Given the description of an element on the screen output the (x, y) to click on. 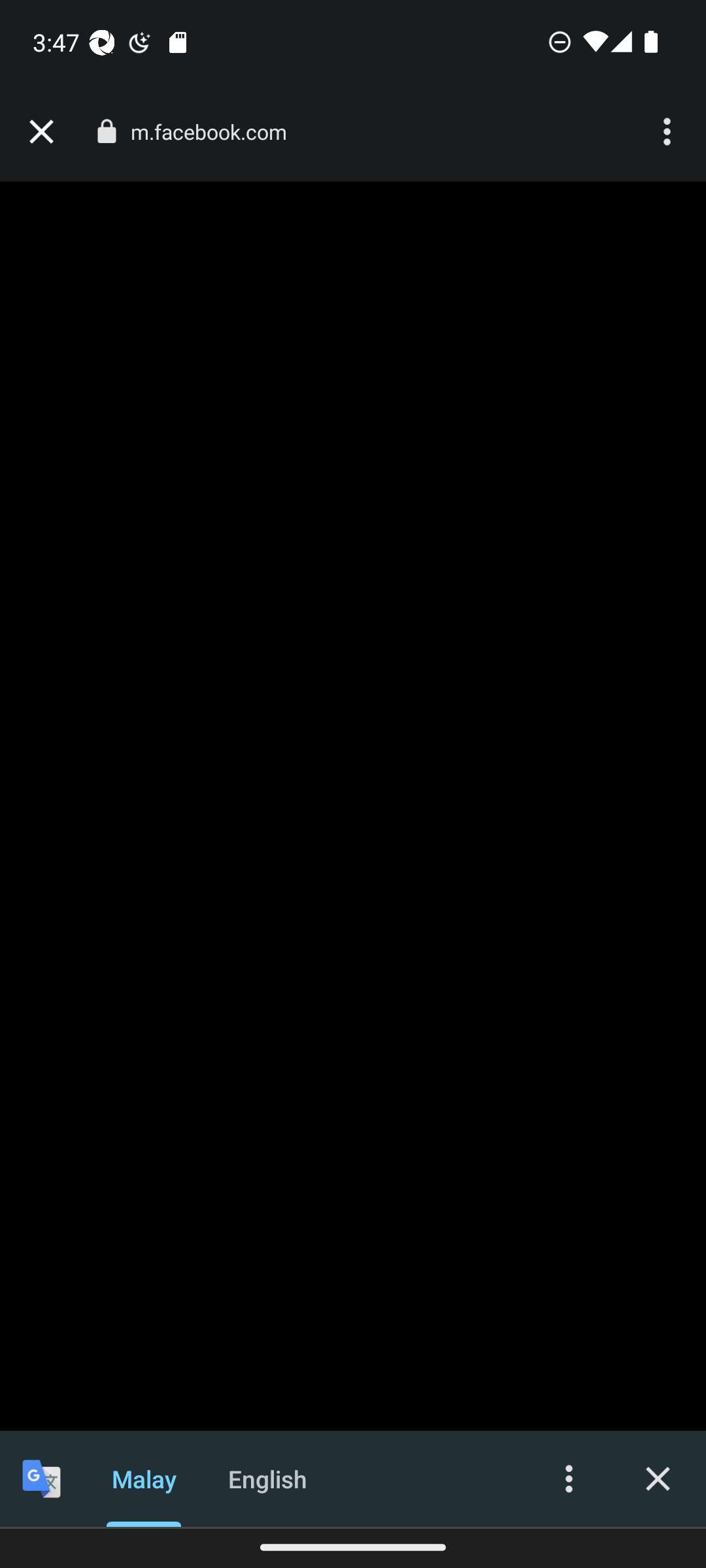
Close tab (41, 131)
More options (669, 131)
Connection is secure (106, 131)
m.facebook.com (215, 131)
English (267, 1478)
More options (568, 1478)
Close (657, 1478)
